Given the description of an element on the screen output the (x, y) to click on. 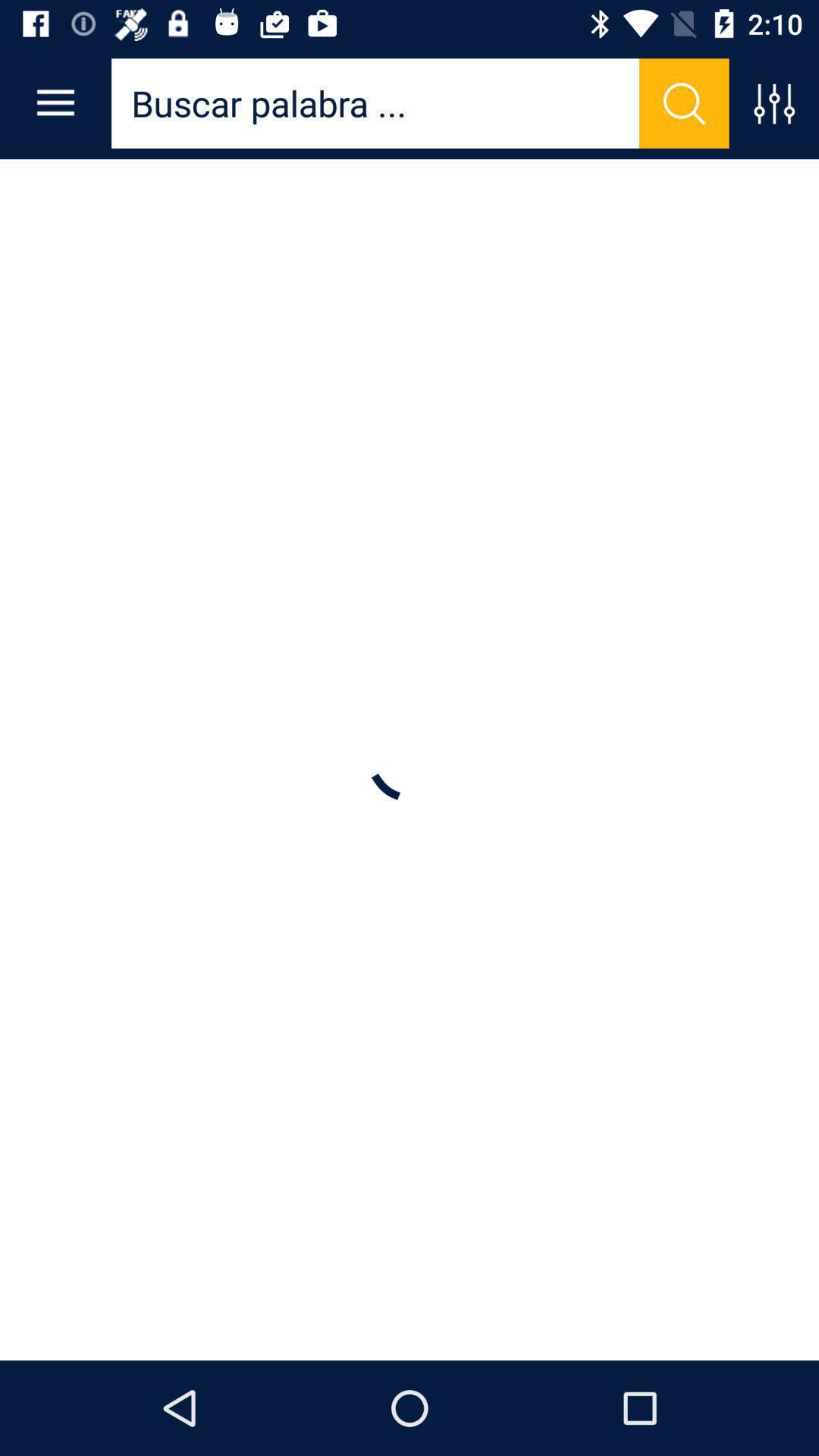
search dictionary (684, 103)
